Given the description of an element on the screen output the (x, y) to click on. 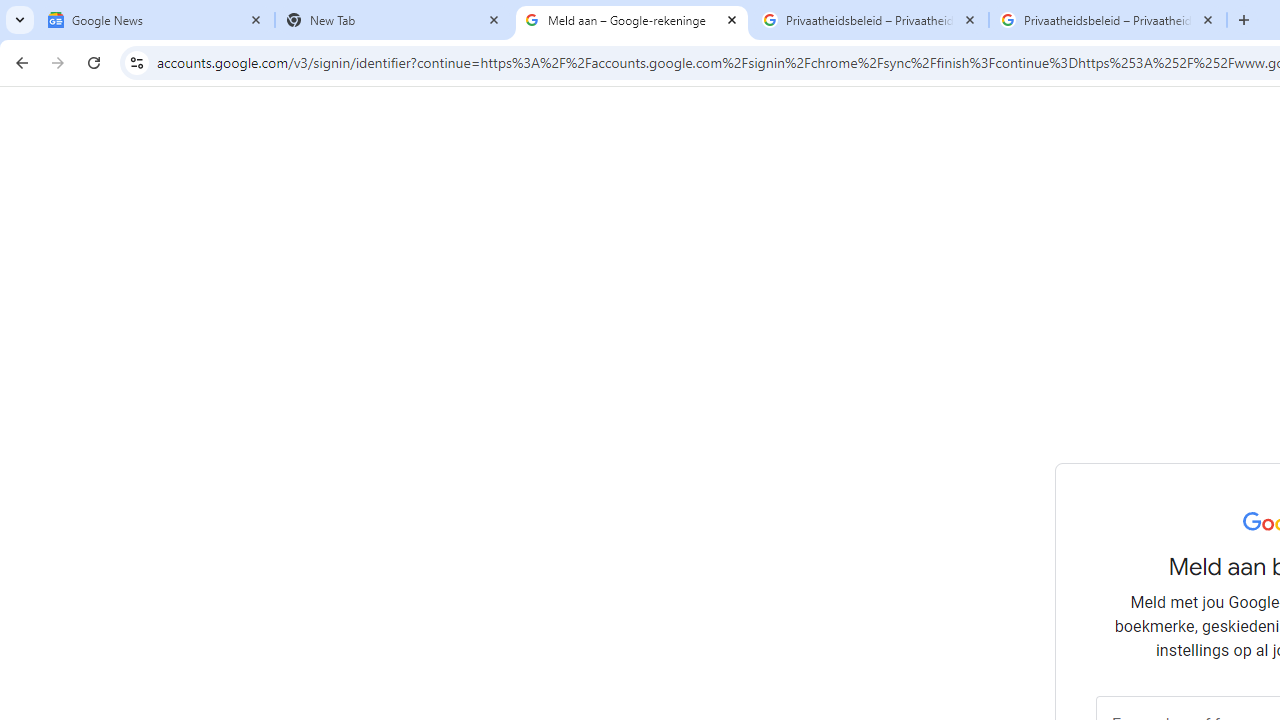
Google News (156, 20)
New Tab (394, 20)
